Given the description of an element on the screen output the (x, y) to click on. 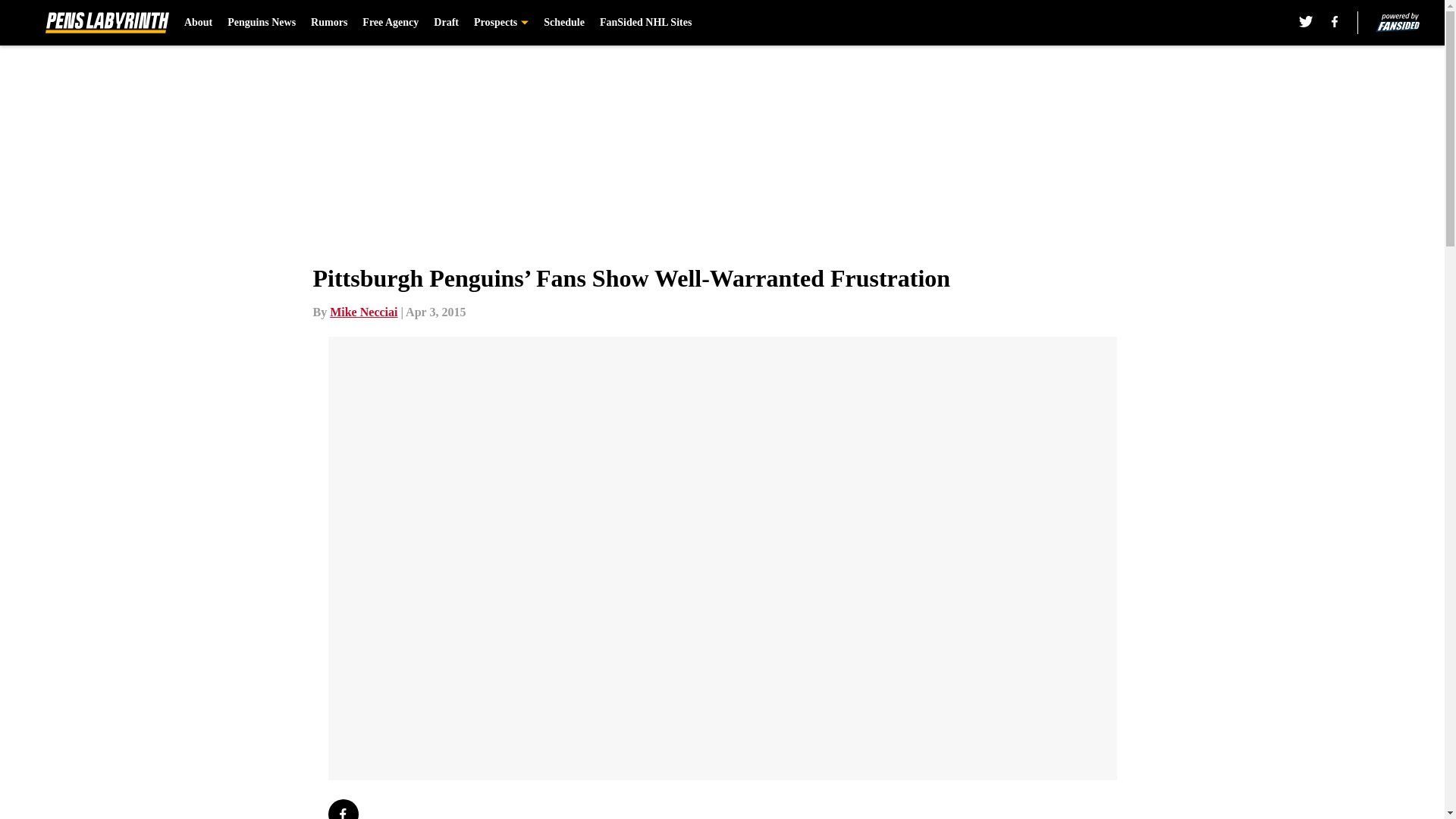
About (198, 22)
FanSided NHL Sites (645, 22)
Free Agency (390, 22)
Schedule (564, 22)
Draft (445, 22)
Mike Necciai (363, 311)
Rumors (329, 22)
Penguins News (261, 22)
